Given the description of an element on the screen output the (x, y) to click on. 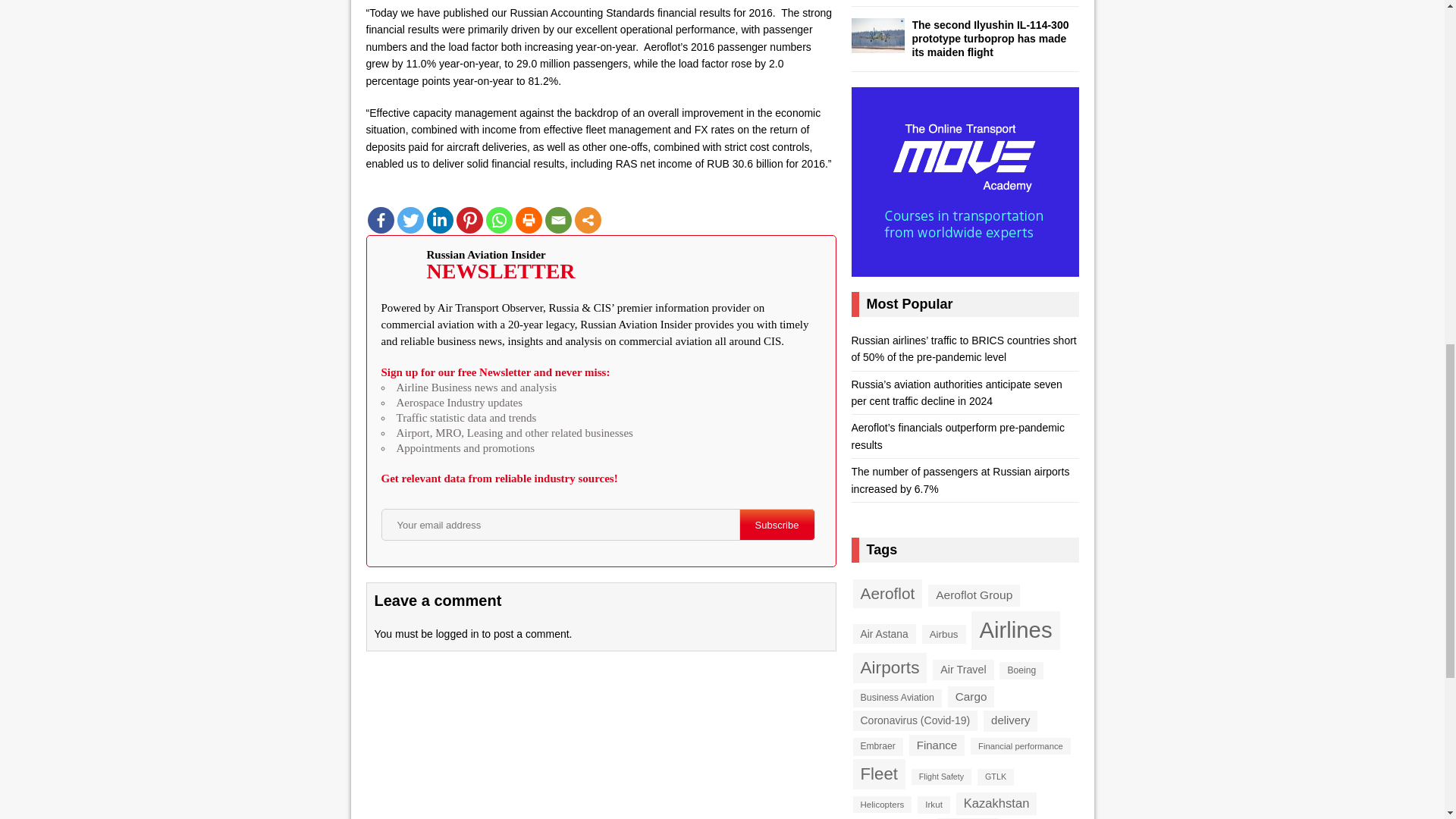
Twitter (410, 220)
Linkedin (439, 220)
Pinterest (470, 220)
More (588, 220)
Print (528, 220)
Subscribe (775, 524)
Subscribe (775, 524)
Email (557, 220)
Facebook (379, 220)
Whatsapp (498, 220)
logged in (457, 633)
